Given the description of an element on the screen output the (x, y) to click on. 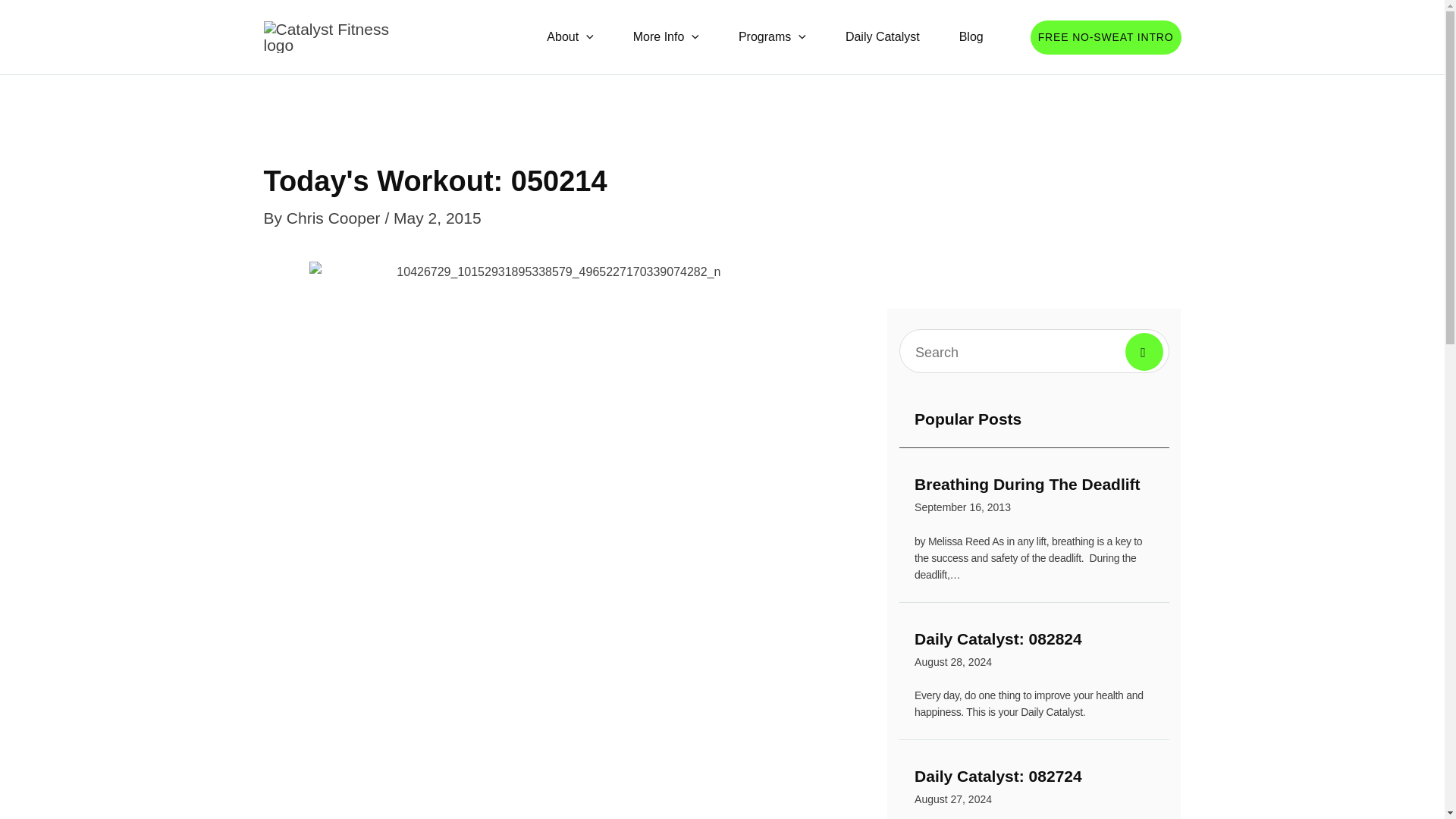
More Info (665, 36)
Programs (772, 36)
Daily Catalyst (882, 36)
Blog (1034, 497)
FREE NO-SWEAT INTRO (971, 36)
Chris Cooper (1034, 789)
View all posts by Chris Cooper (1105, 36)
